Given the description of an element on the screen output the (x, y) to click on. 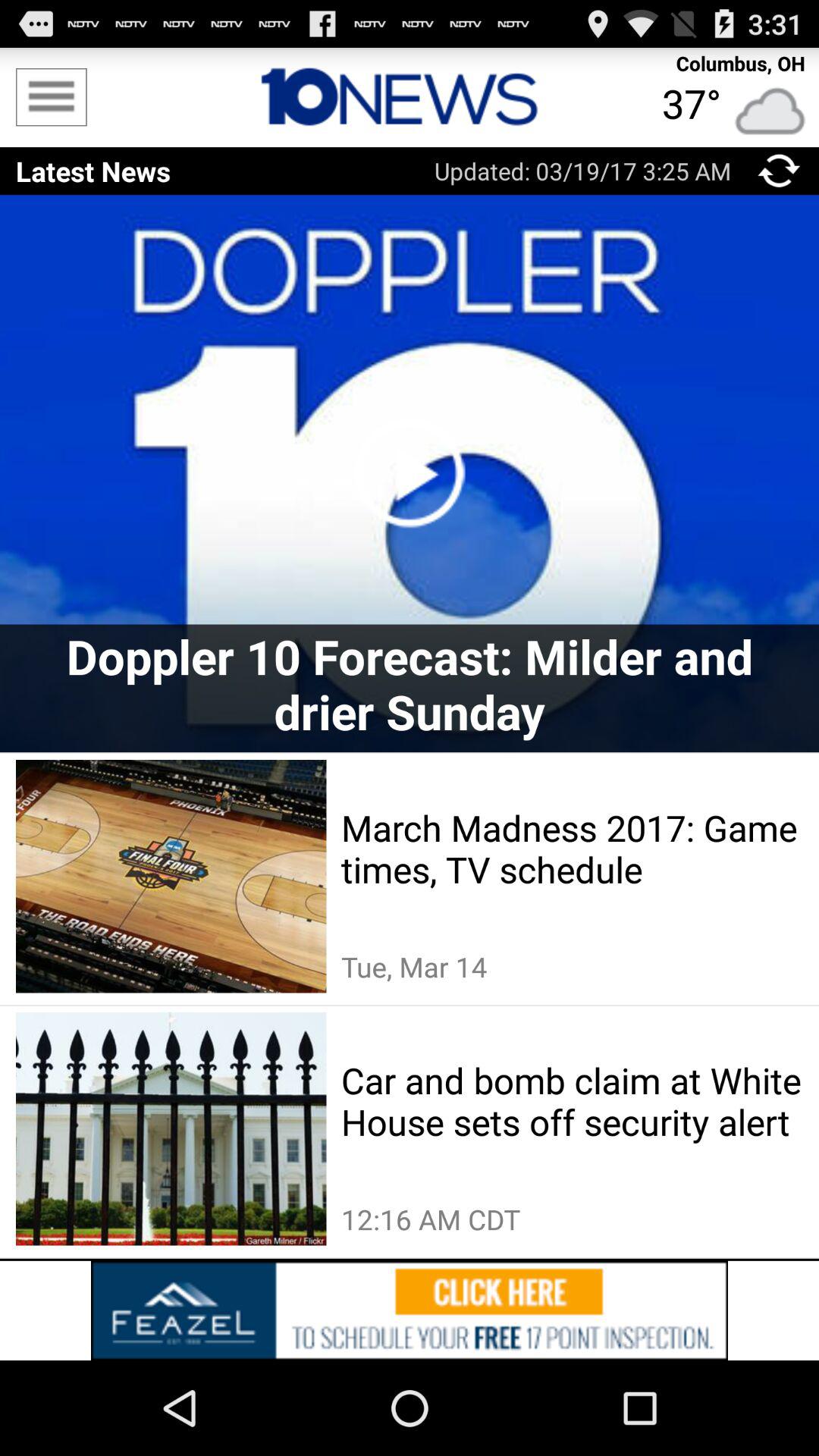
news (409, 97)
